Given the description of an element on the screen output the (x, y) to click on. 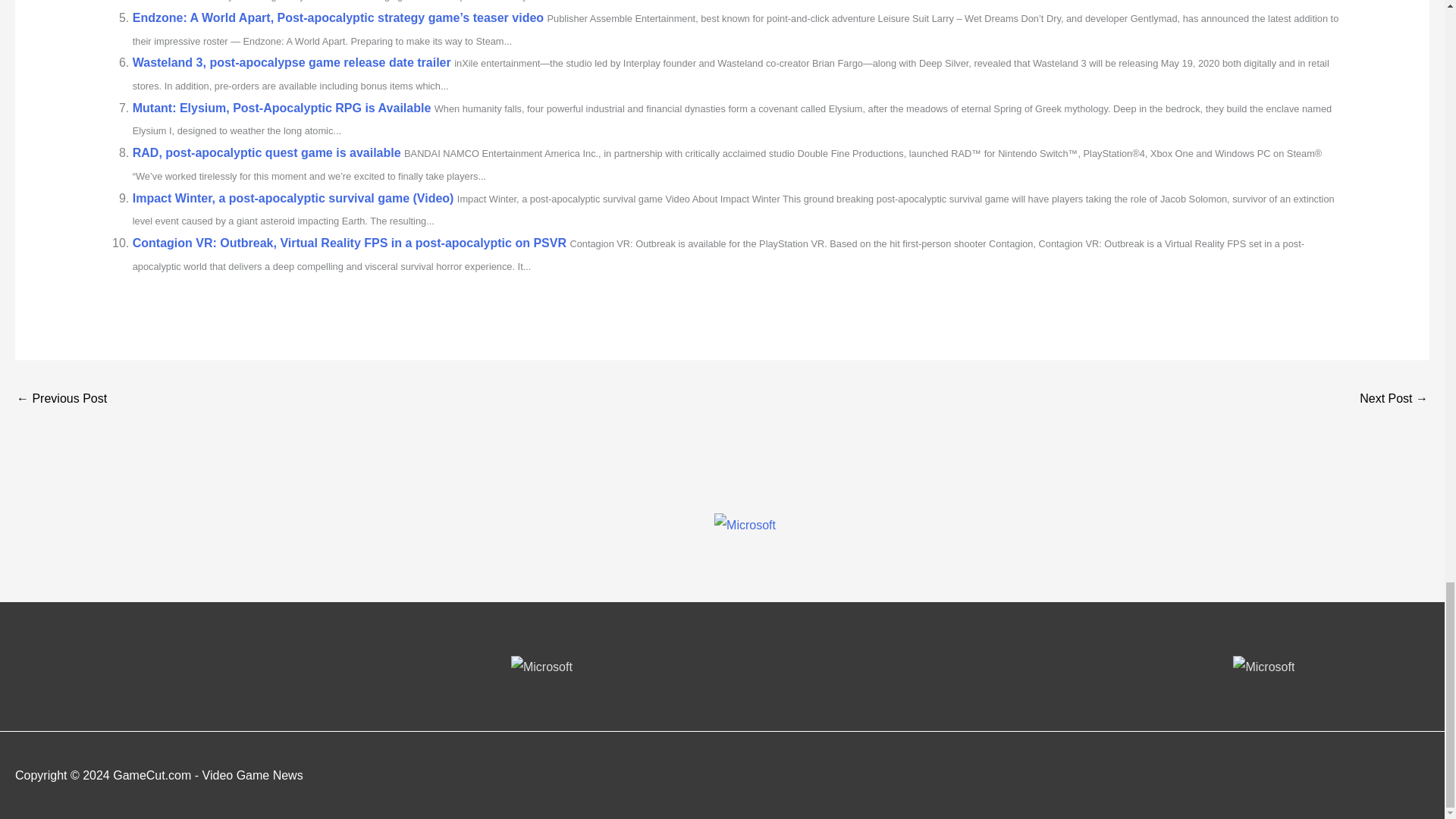
Wasteland 3, post-apocalypse game release date trailer (291, 62)
RAD, post-apocalyptic quest game is available (266, 152)
Wasteland 3, post-apocalypse game release date trailer (291, 62)
Mutant: Elysium, Post-Apocalyptic RPG is Available (281, 107)
Mutant: Elysium, Post-Apocalyptic RPG is Available (281, 107)
RAD, post-apocalyptic quest game is available (266, 152)
